Given the description of an element on the screen output the (x, y) to click on. 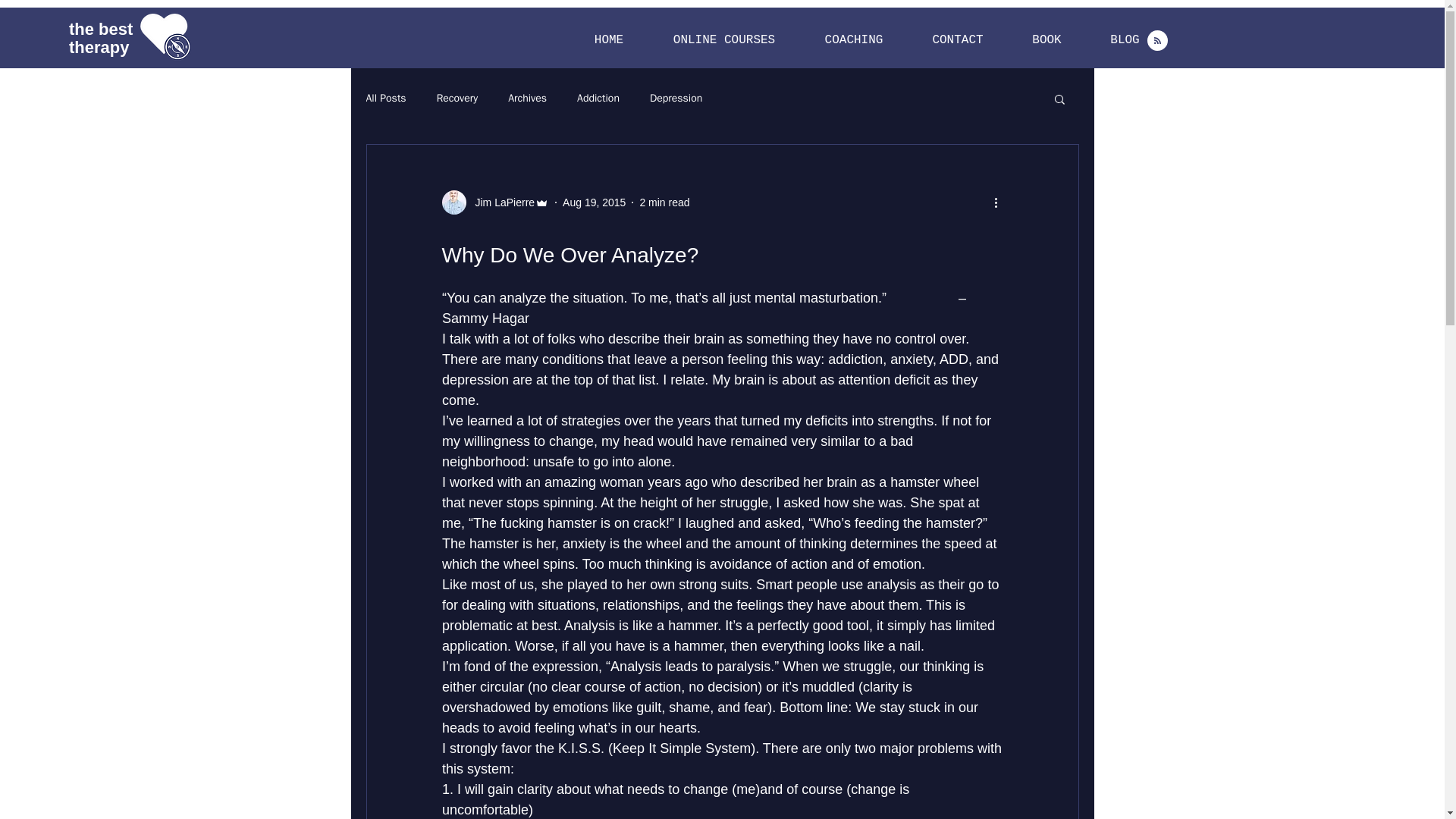
Depression (675, 98)
Jim LaPierre (494, 202)
Aug 19, 2015 (594, 202)
Jim LaPierre (100, 37)
BOOK (499, 202)
CONTACT (1046, 40)
COACHING (957, 40)
All Posts (853, 40)
BLOG (385, 98)
Archives (1124, 40)
HOME (527, 98)
2 min read (608, 40)
Recovery (663, 202)
Addiction (457, 98)
